Given the description of an element on the screen output the (x, y) to click on. 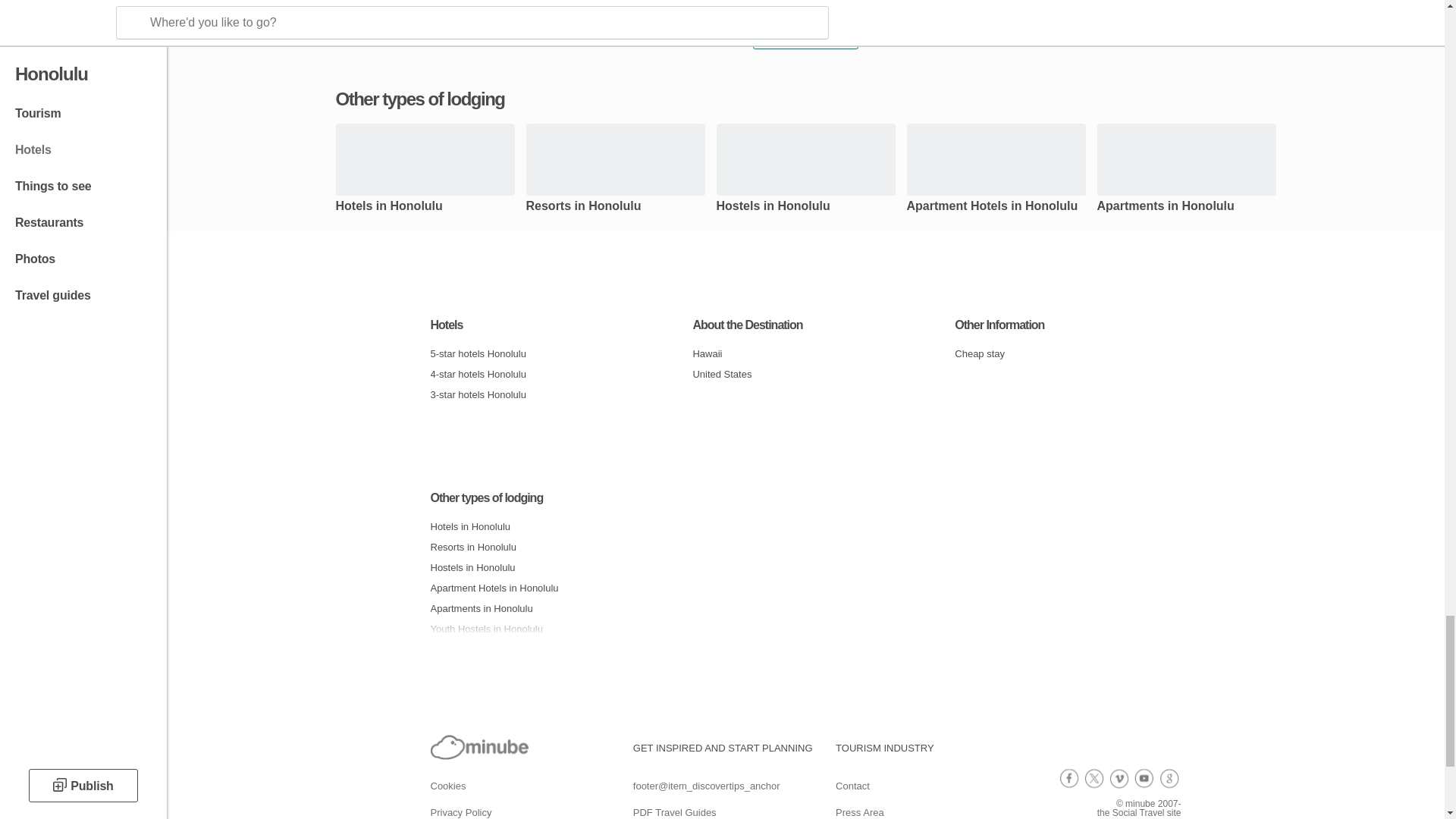
Resorts in Honolulu (543, 547)
Apartment Hotels in Honolulu (996, 213)
3-star hotels Honolulu (543, 394)
Apartments in Honolulu (1185, 213)
United States (805, 373)
Hotels in Honolulu (423, 213)
Hotels in Honolulu (543, 526)
Cheap stay (1067, 353)
4-star hotels Honolulu (543, 373)
5-star hotels Honolulu (543, 353)
